Given the description of an element on the screen output the (x, y) to click on. 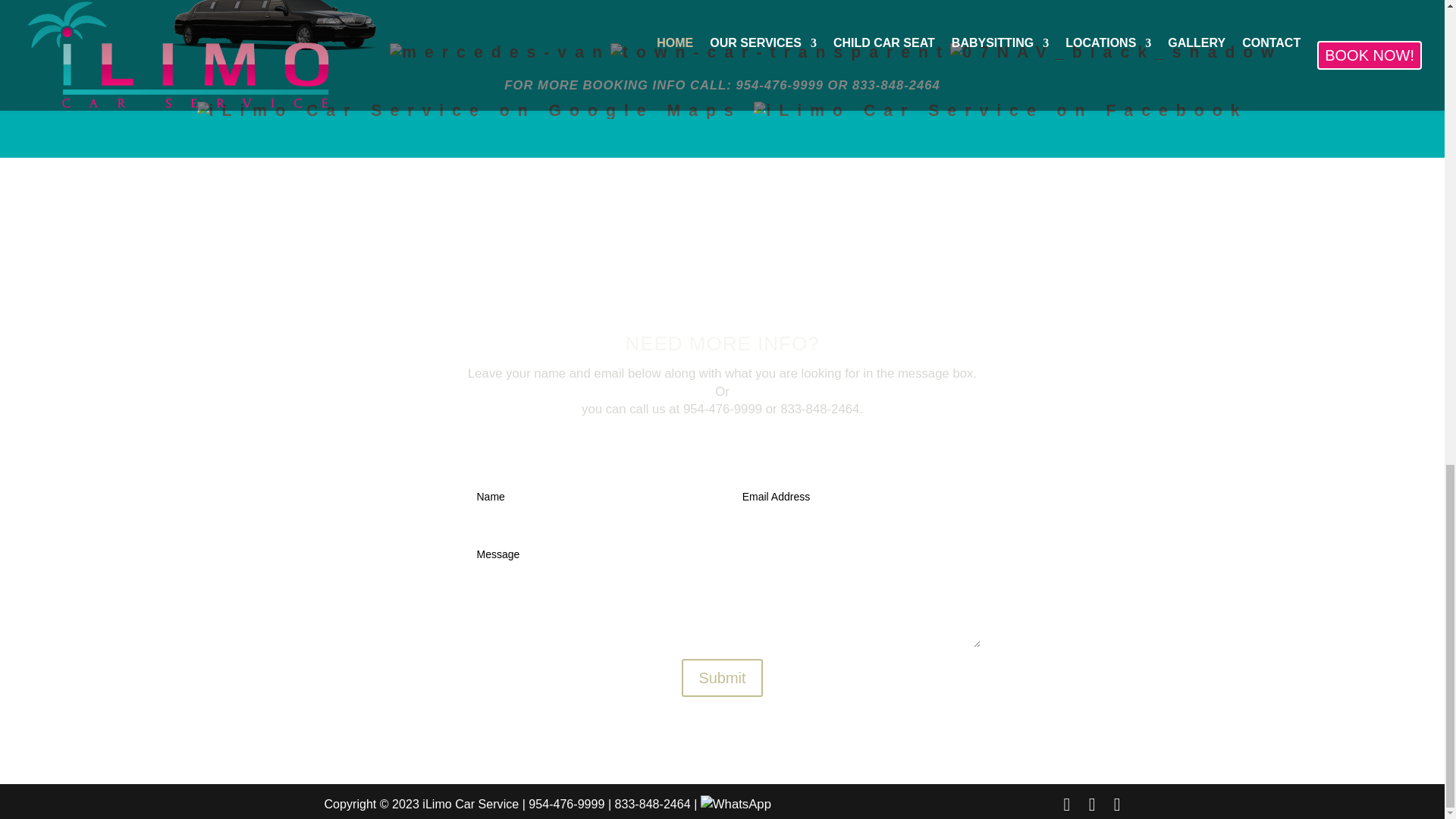
Name (589, 496)
Email Address (854, 496)
iLimo Car Service on Facebook (1000, 110)
iLimo Car Service on Google Maps (468, 110)
